Given the description of an element on the screen output the (x, y) to click on. 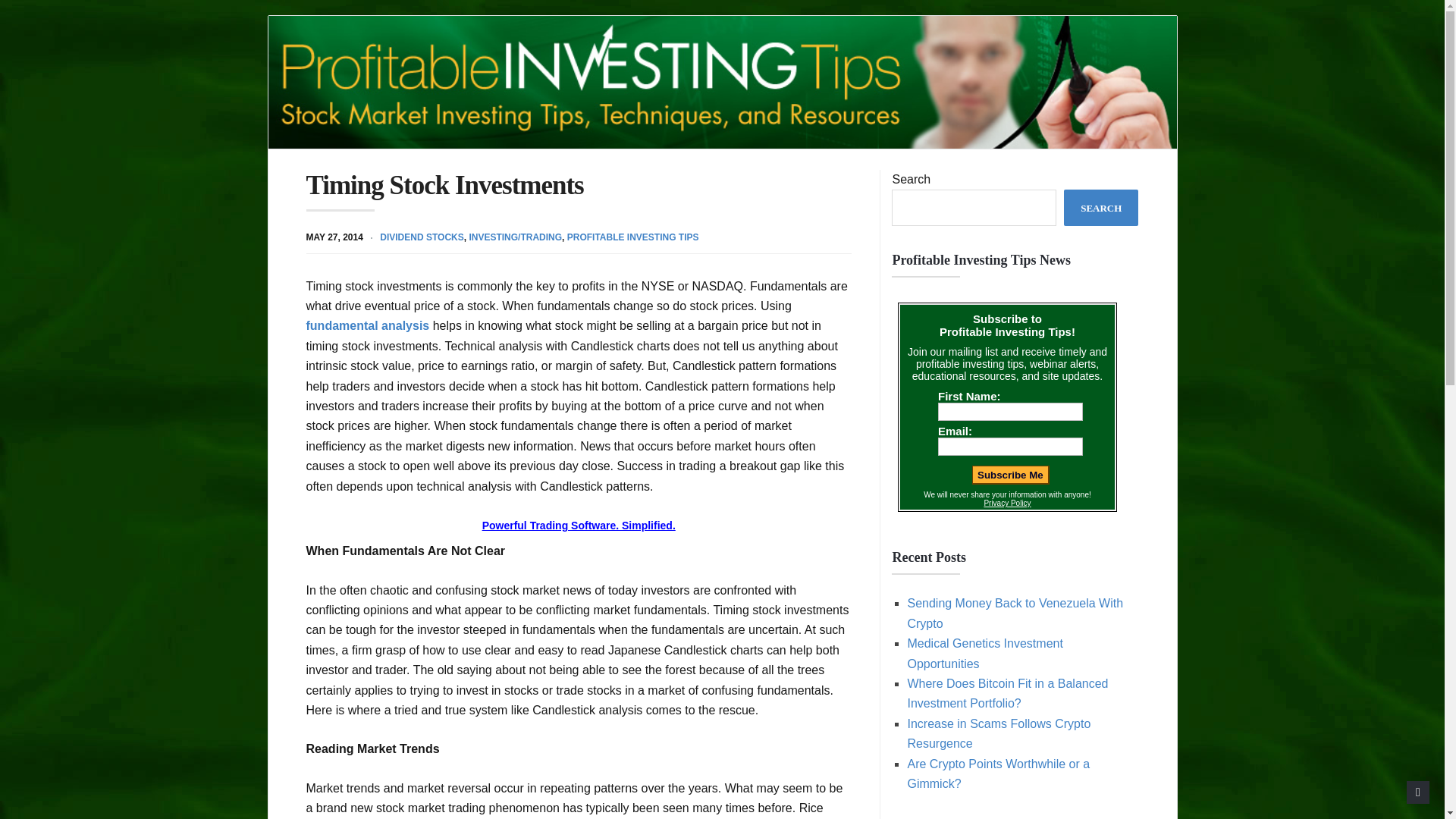
PROFITABLE INVESTING TIPS (632, 236)
DIVIDEND STOCKS (421, 236)
Profitable Investing Tips (721, 81)
Are Crypto Points Worthwhile or a Gimmick? (998, 772)
Sending Money Back to Venezuela With Crypto (1014, 613)
Where Does Bitcoin Fit in a Balanced Investment Portfolio? (1007, 693)
SEARCH (1101, 207)
Increase in Scams Follows Crypto Resurgence (998, 733)
fundamental analysis (367, 325)
Medical Genetics Investment Opportunities (984, 653)
